Given the description of an element on the screen output the (x, y) to click on. 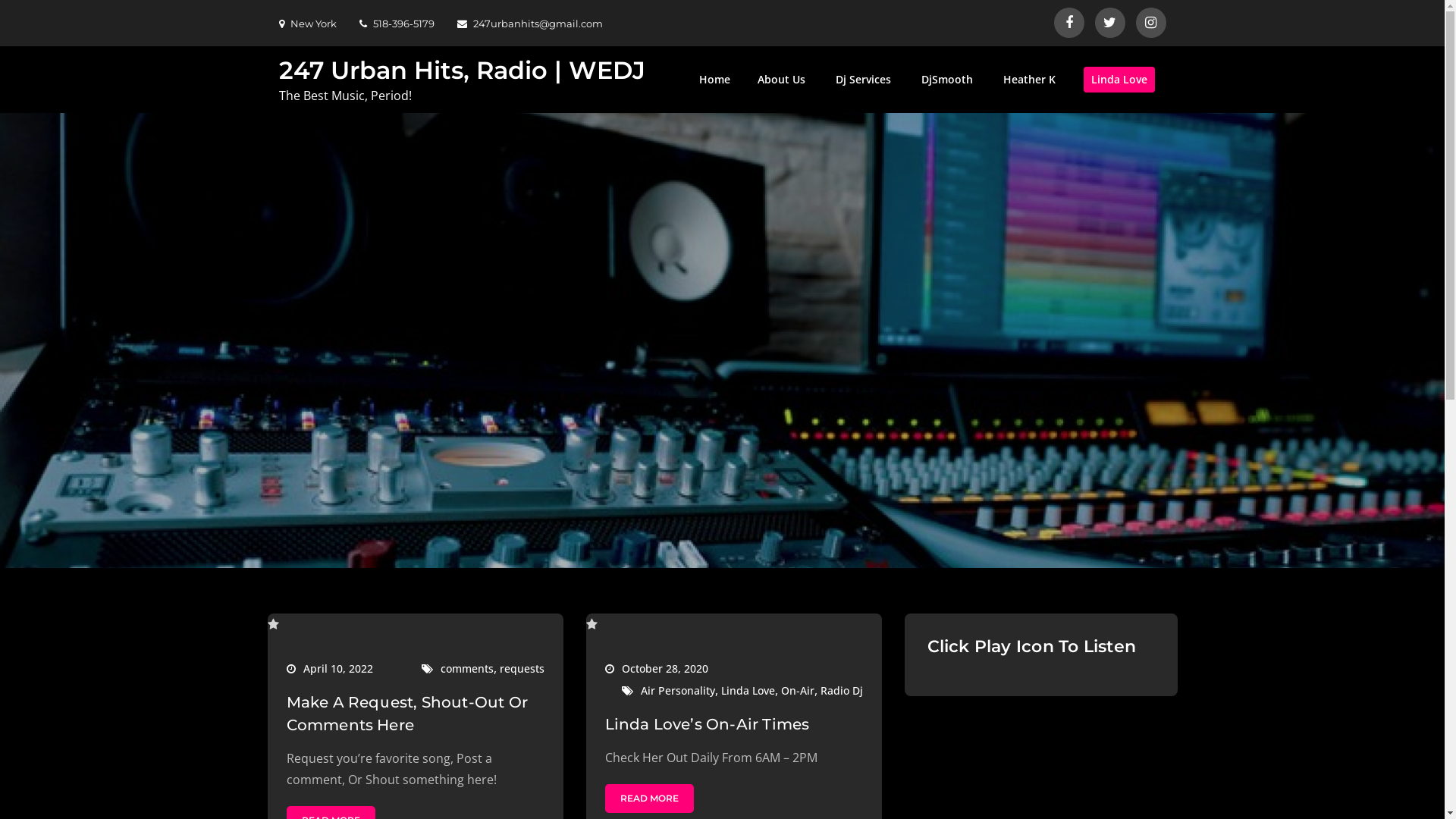
Linda Love Element type: text (1118, 79)
READ MORE Element type: text (649, 798)
About Us Element type: text (780, 79)
Linda Love Element type: text (747, 690)
Home Element type: text (714, 79)
247urbanhits@gmail.com Element type: text (529, 23)
518-396-5179 Element type: text (396, 23)
Make A Request, Shout-Out Or Comments Here Element type: text (407, 713)
On-Air Element type: text (797, 690)
Air Personality Element type: text (677, 690)
Radio Dj Element type: text (841, 690)
Heather K Element type: text (1028, 79)
DjSmooth Element type: text (945, 79)
247 Urban Hits, Radio | WEDJ Element type: text (462, 69)
comments Element type: text (465, 668)
April 10, 2022 Element type: text (329, 668)
requests Element type: text (520, 668)
October 28, 2020 Element type: text (656, 668)
Dj Services Element type: text (863, 79)
